Given the description of an element on the screen output the (x, y) to click on. 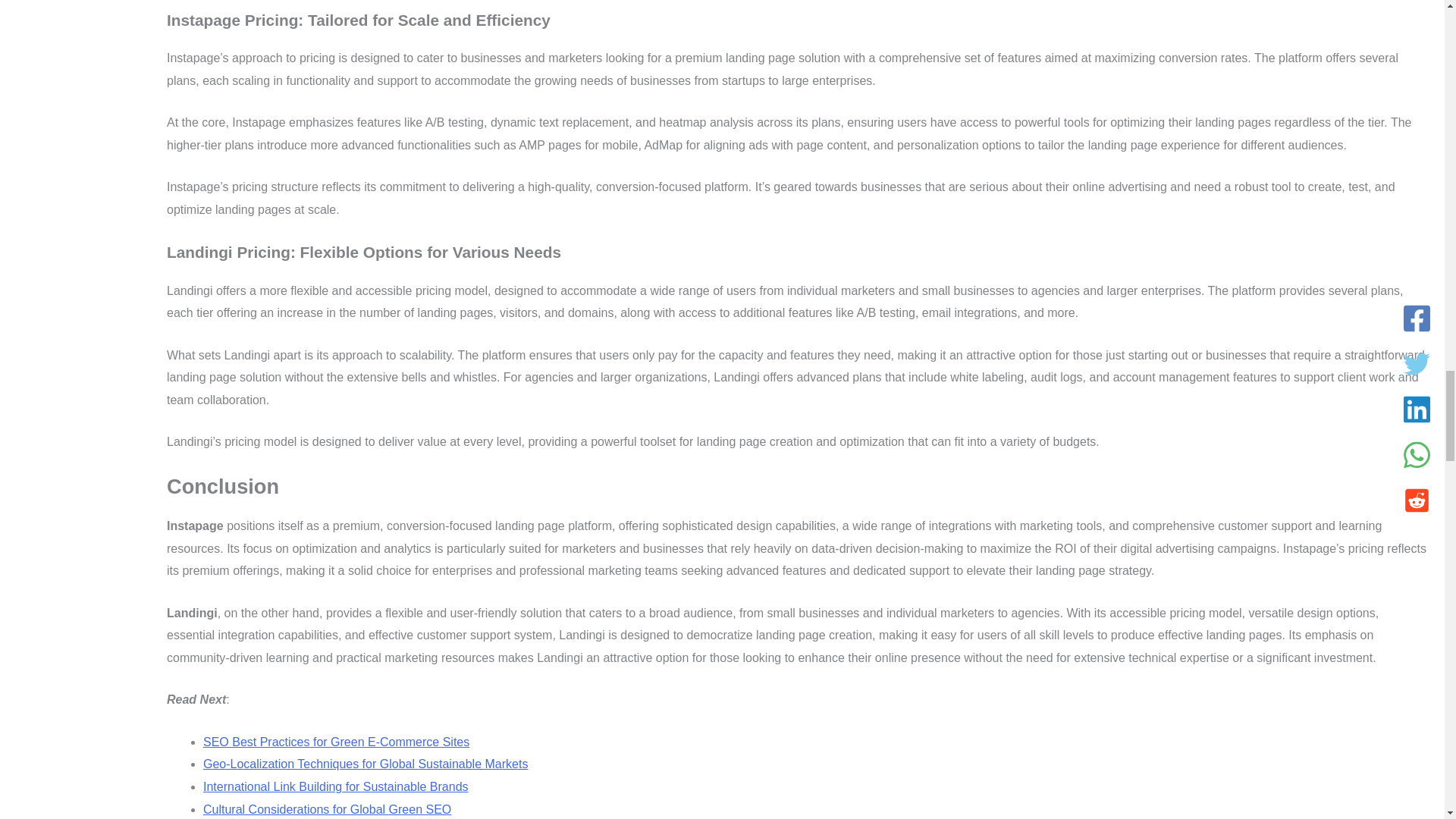
SEO Best Practices for Green E-Commerce Sites (335, 741)
Geo-Localization Techniques for Global Sustainable Markets (365, 763)
Cultural Considerations for Global Green SEO (327, 809)
International Link Building for Sustainable Brands (335, 786)
